Given the description of an element on the screen output the (x, y) to click on. 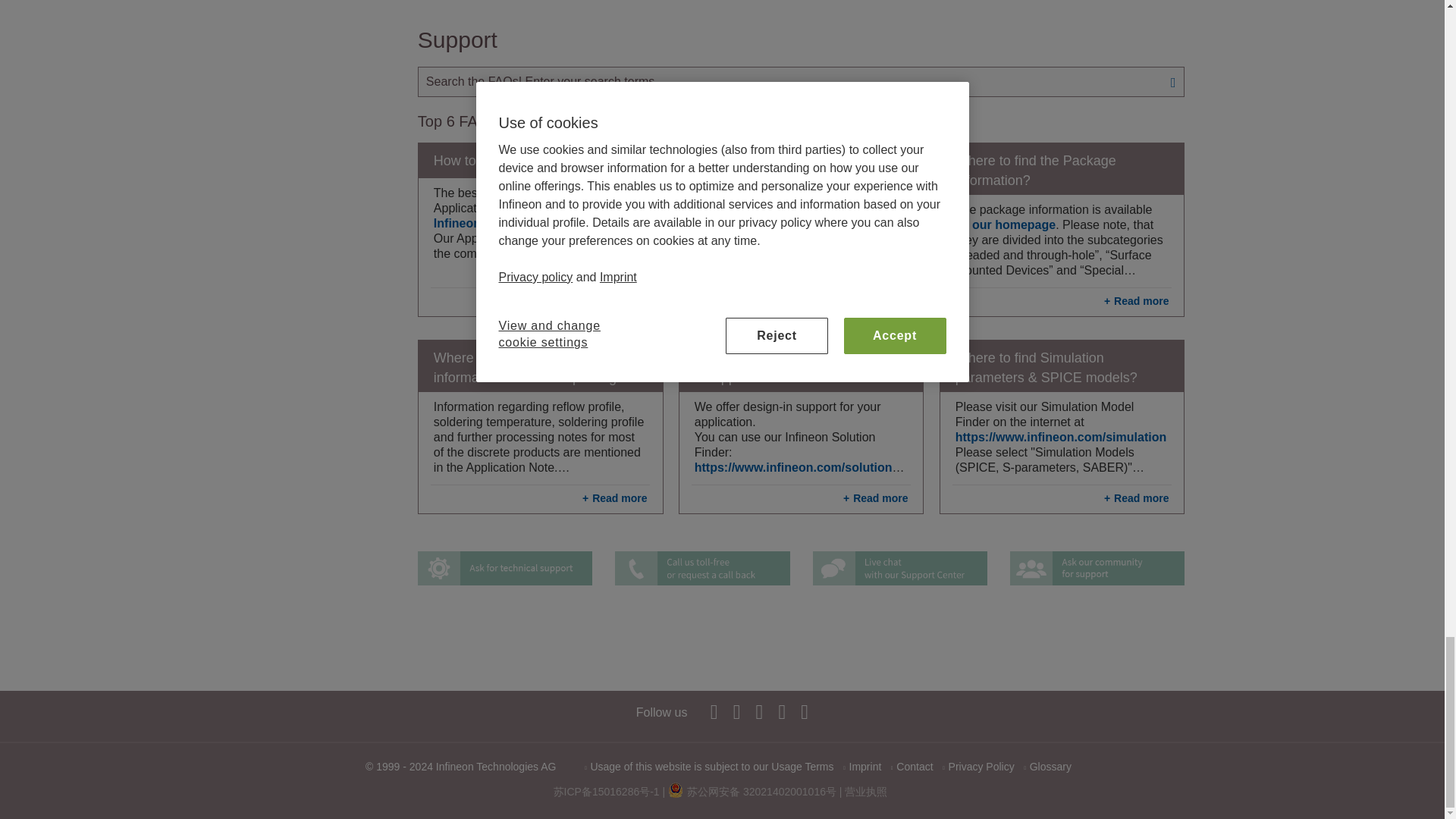
Where to find the Package information? (1062, 168)
How to get Technical Support? (540, 160)
Infineon (759, 710)
Infineon (781, 710)
How to get Design-in support for an application? (801, 366)
LinkedIn (736, 710)
Infineon (714, 710)
Instagram (804, 710)
